Given the description of an element on the screen output the (x, y) to click on. 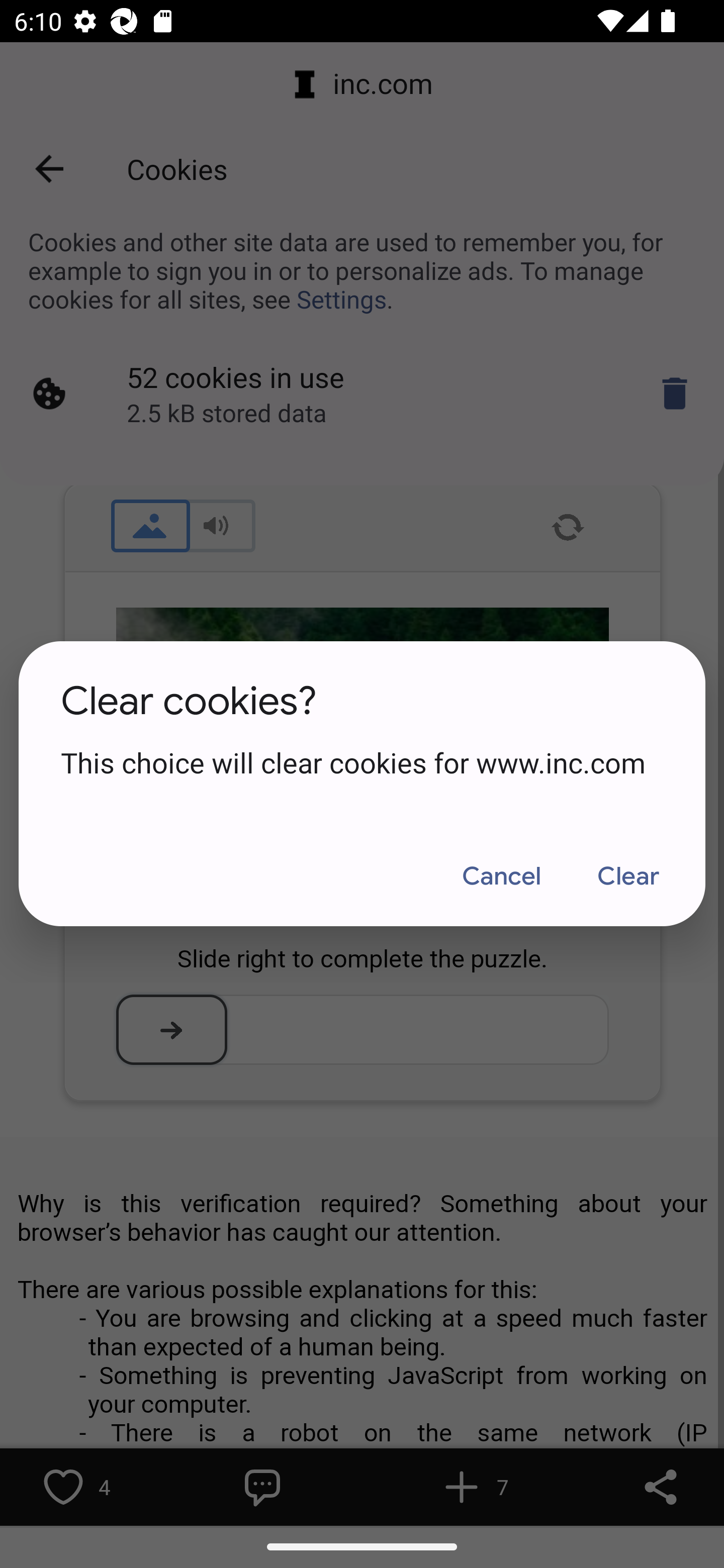
Cancel (501, 876)
Clear (627, 876)
